Given the description of an element on the screen output the (x, y) to click on. 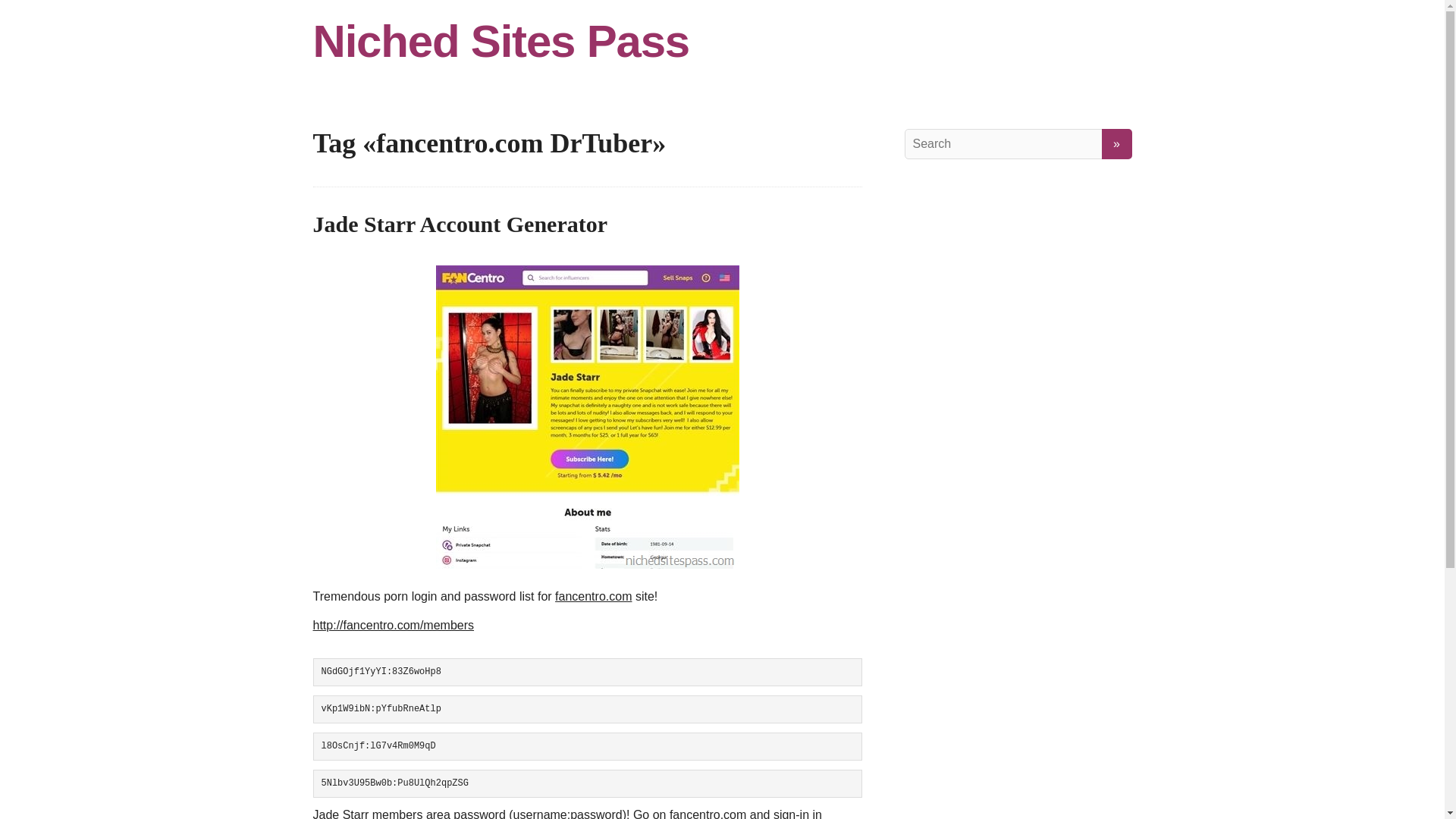
Niched Sites Pass (722, 41)
Jade Starr (587, 416)
Jade Starr Account Generator (460, 223)
Niched Sites Pass (722, 41)
fancentro.com (592, 595)
fancentro.com (707, 813)
Jade Starr Account Generator (460, 223)
